Given the description of an element on the screen output the (x, y) to click on. 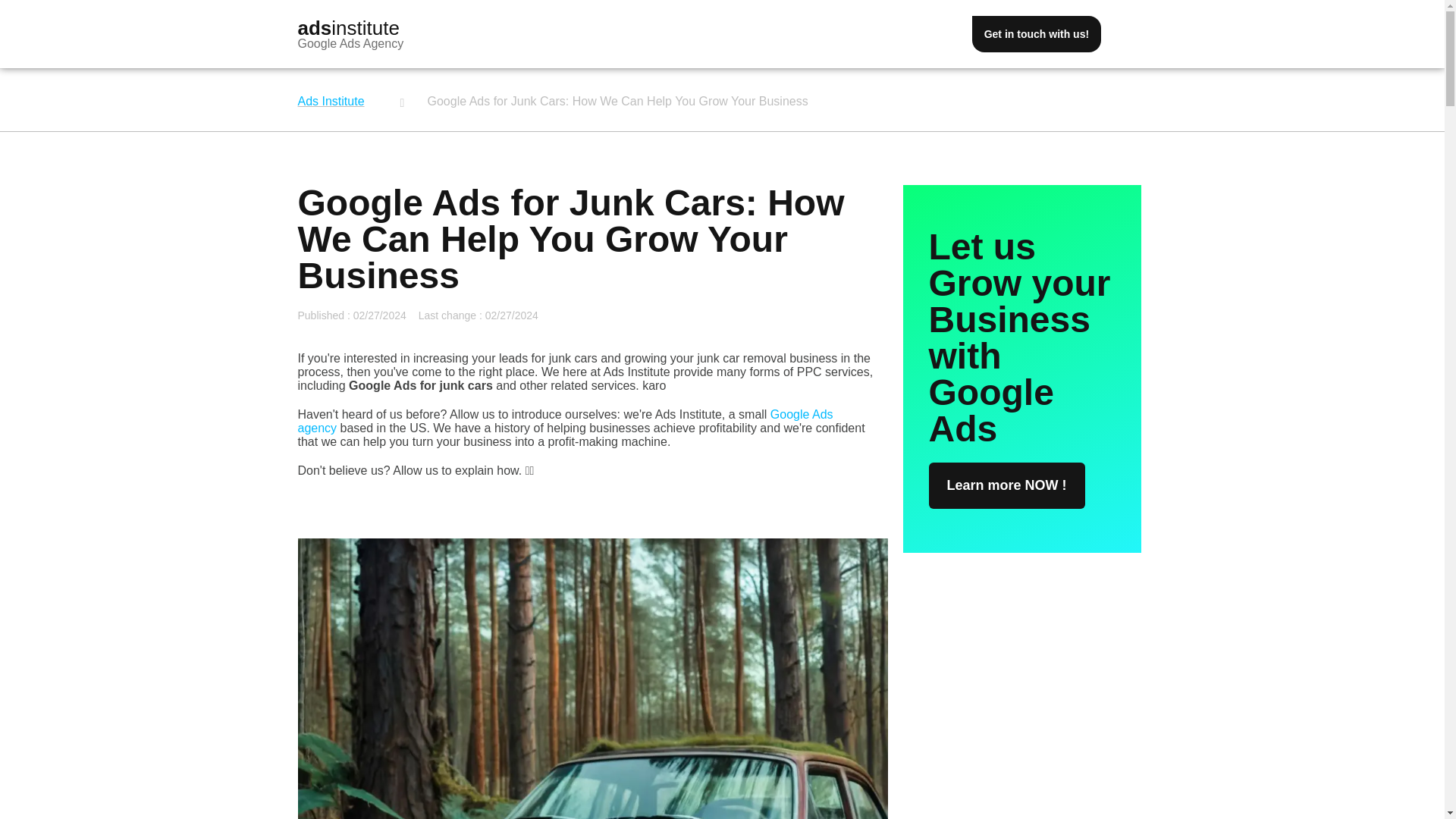
Google Ads Agency (350, 42)
Ads Institute (330, 101)
Get in touch with us! (1036, 33)
Google Ads agency (564, 420)
adsinstitute (347, 27)
